Given the description of an element on the screen output the (x, y) to click on. 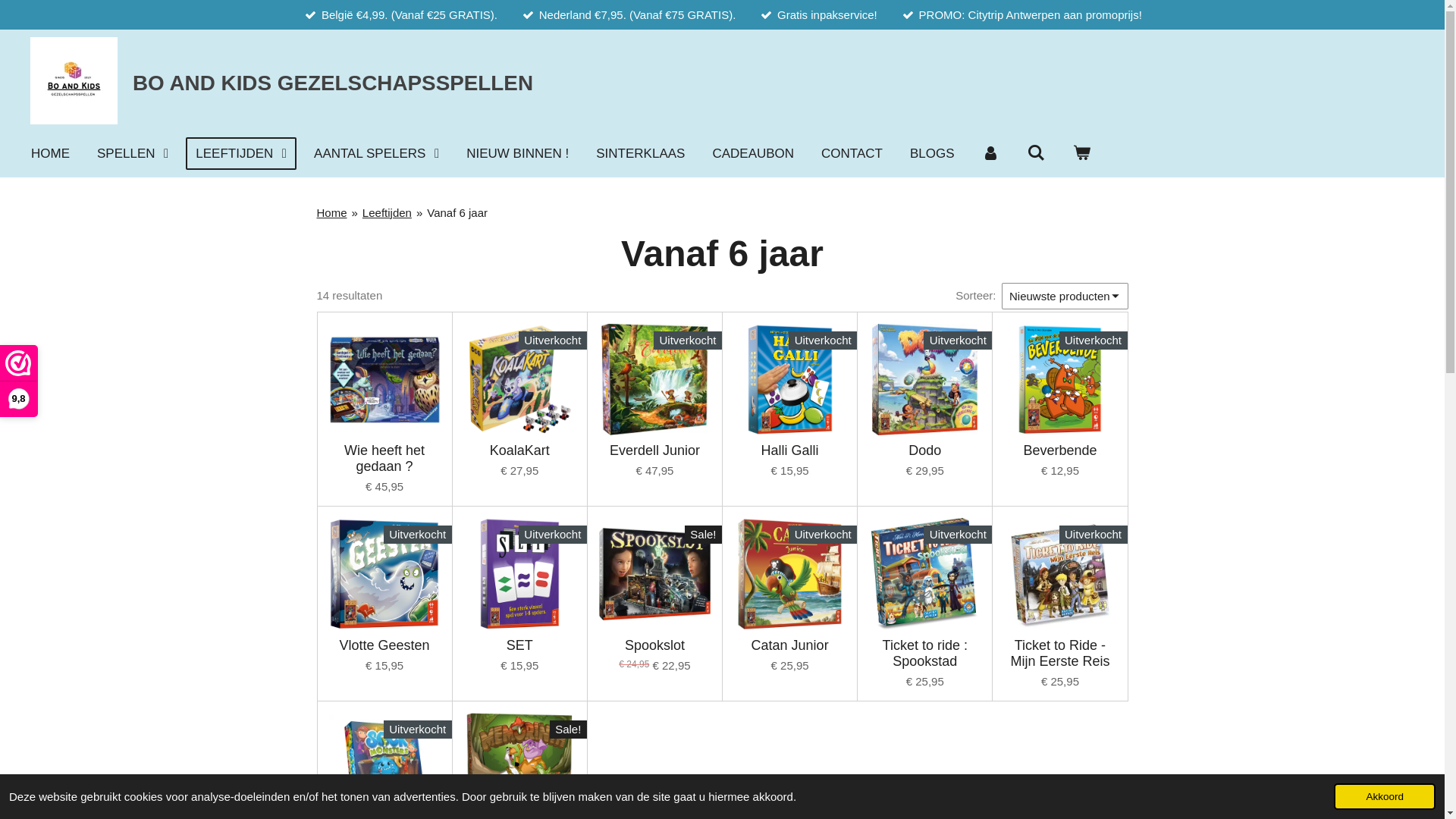
NIEUW BINNEN ! Element type: text (517, 153)
CONTACT Element type: text (851, 153)
Halli Galli Element type: text (790, 450)
Home Element type: text (331, 212)
Beverbende Element type: text (1059, 450)
Spookslot Element type: text (654, 645)
AANTAL SPELERS Element type: text (376, 153)
Vlotte Geesten Element type: text (384, 645)
SPELLEN Element type: text (132, 153)
SET Element type: text (519, 645)
Bekijk winkelwagen Element type: hover (1081, 153)
Bo and Kids gezelschapsspellen Element type: hover (73, 80)
BLOGS Element type: text (932, 153)
Ticket to Ride - Mijn Eerste Reis Element type: text (1059, 653)
BO AND KIDS GEZELSCHAPSSPELLEN Element type: text (332, 82)
Zoeken Element type: hover (1035, 153)
9,8 Element type: text (18, 380)
KoalaKart Element type: text (519, 450)
Vanaf 6 jaar Element type: text (456, 212)
Everdell Junior Element type: text (654, 450)
LEEFTIJDEN Element type: text (240, 153)
CADEAUBON Element type: text (752, 153)
Ticket to ride : Spookstad Element type: text (924, 653)
Catan Junior Element type: text (789, 645)
SINTERKLAAS Element type: text (640, 153)
HOME Element type: text (50, 153)
Dodo Element type: text (924, 450)
Wie heeft het gedaan ? Element type: text (384, 458)
Leeftijden Element type: text (386, 212)
Akkoord Element type: text (1384, 796)
Account Element type: hover (991, 153)
